Given the description of an element on the screen output the (x, y) to click on. 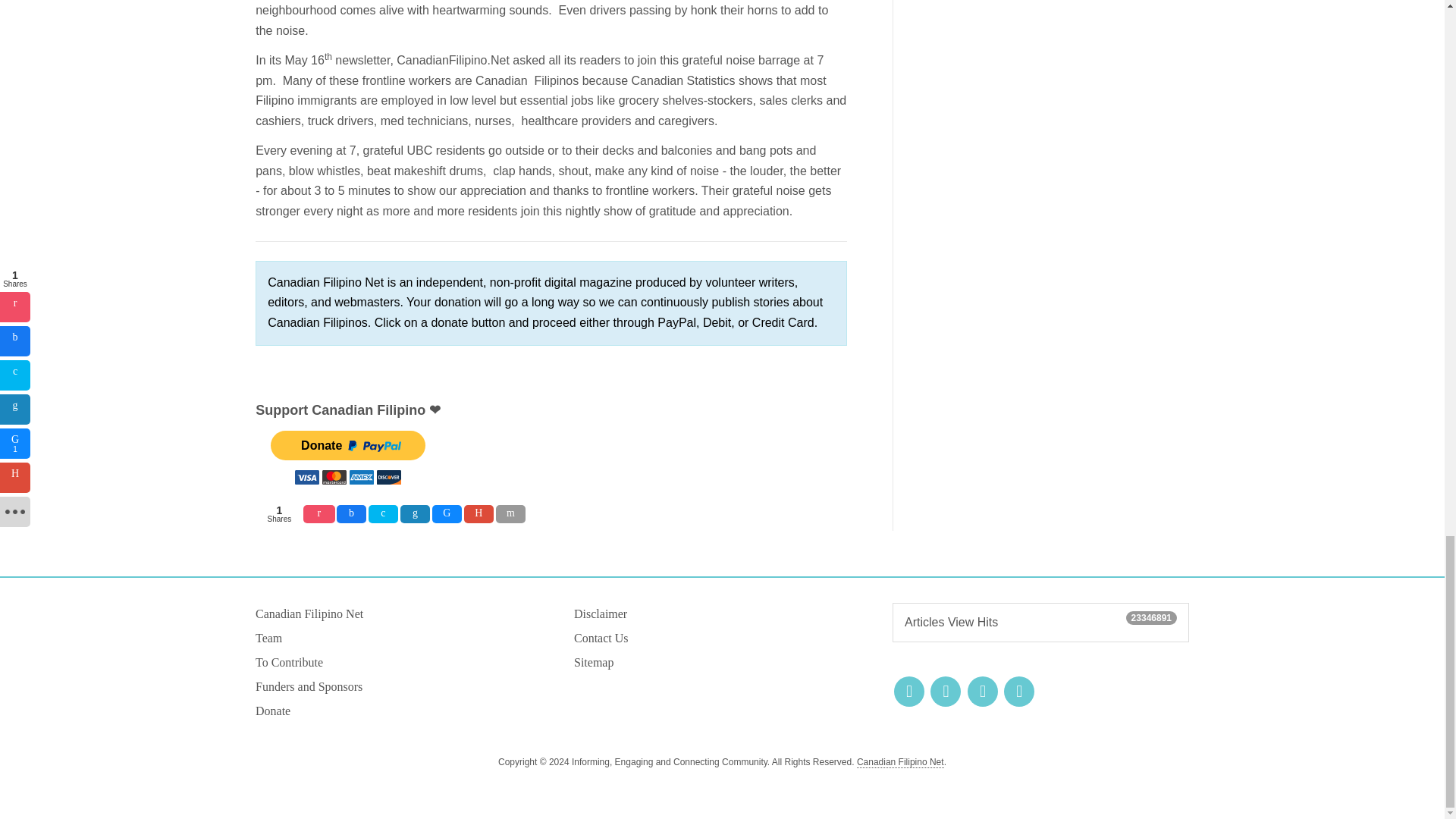
Visit Joomlart.com! (900, 762)
